Given the description of an element on the screen output the (x, y) to click on. 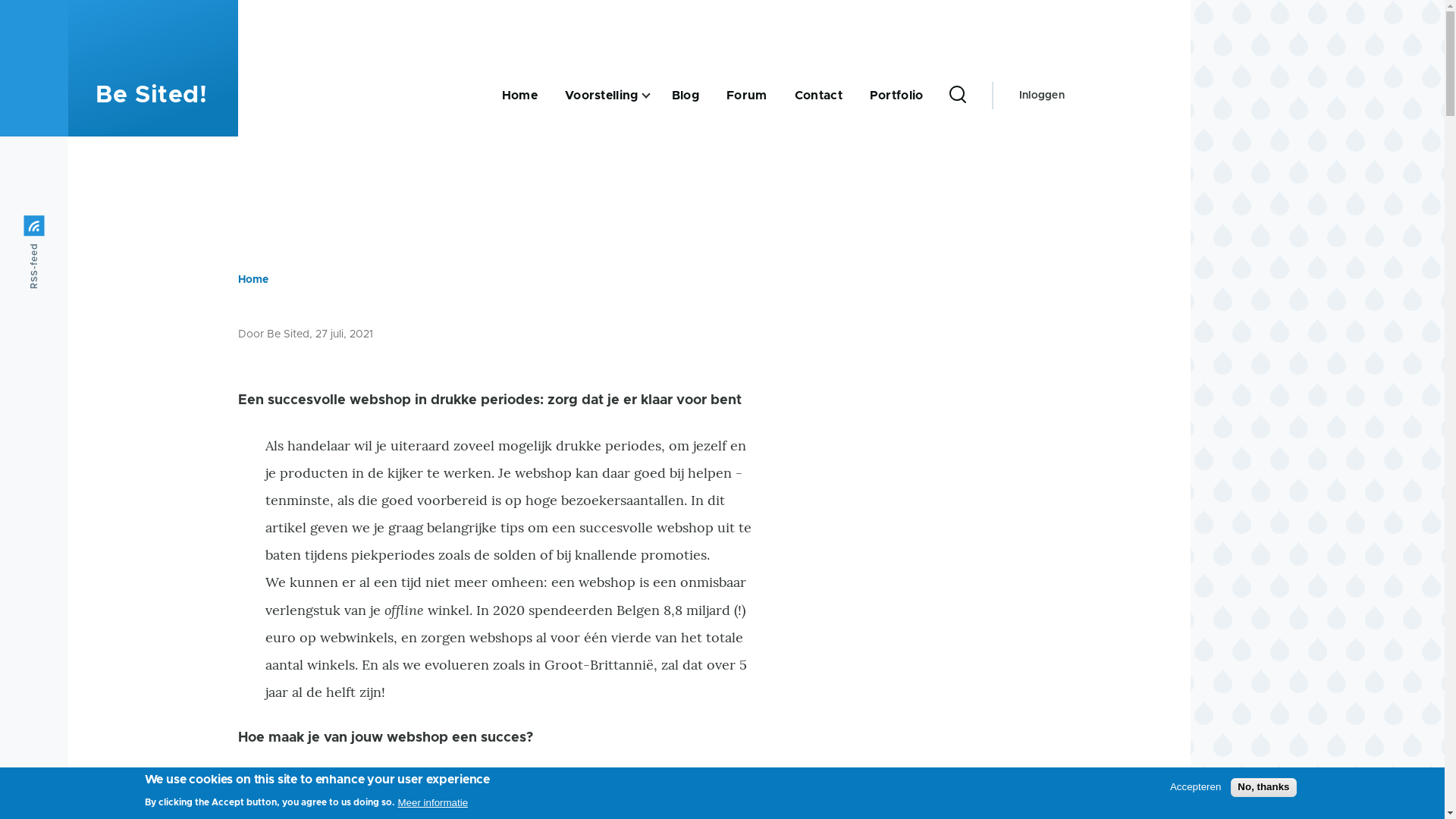
Inloggen Element type: text (1041, 95)
No, thanks Element type: text (1262, 786)
Meer informatie Element type: text (432, 801)
Accepteren Element type: text (1195, 786)
Be Sited! Element type: text (151, 95)
Portfolio Element type: text (896, 94)
Home Element type: text (253, 279)
Voorstelling Element type: text (601, 94)
Search Element type: text (953, 190)
Contact Element type: text (818, 94)
Overslaan en naar de inhoud gaan Element type: text (595, 6)
Forum Element type: text (746, 94)
Blog Element type: text (685, 94)
Home Element type: text (519, 94)
RSS-feed Element type: text (60, 225)
